Given the description of an element on the screen output the (x, y) to click on. 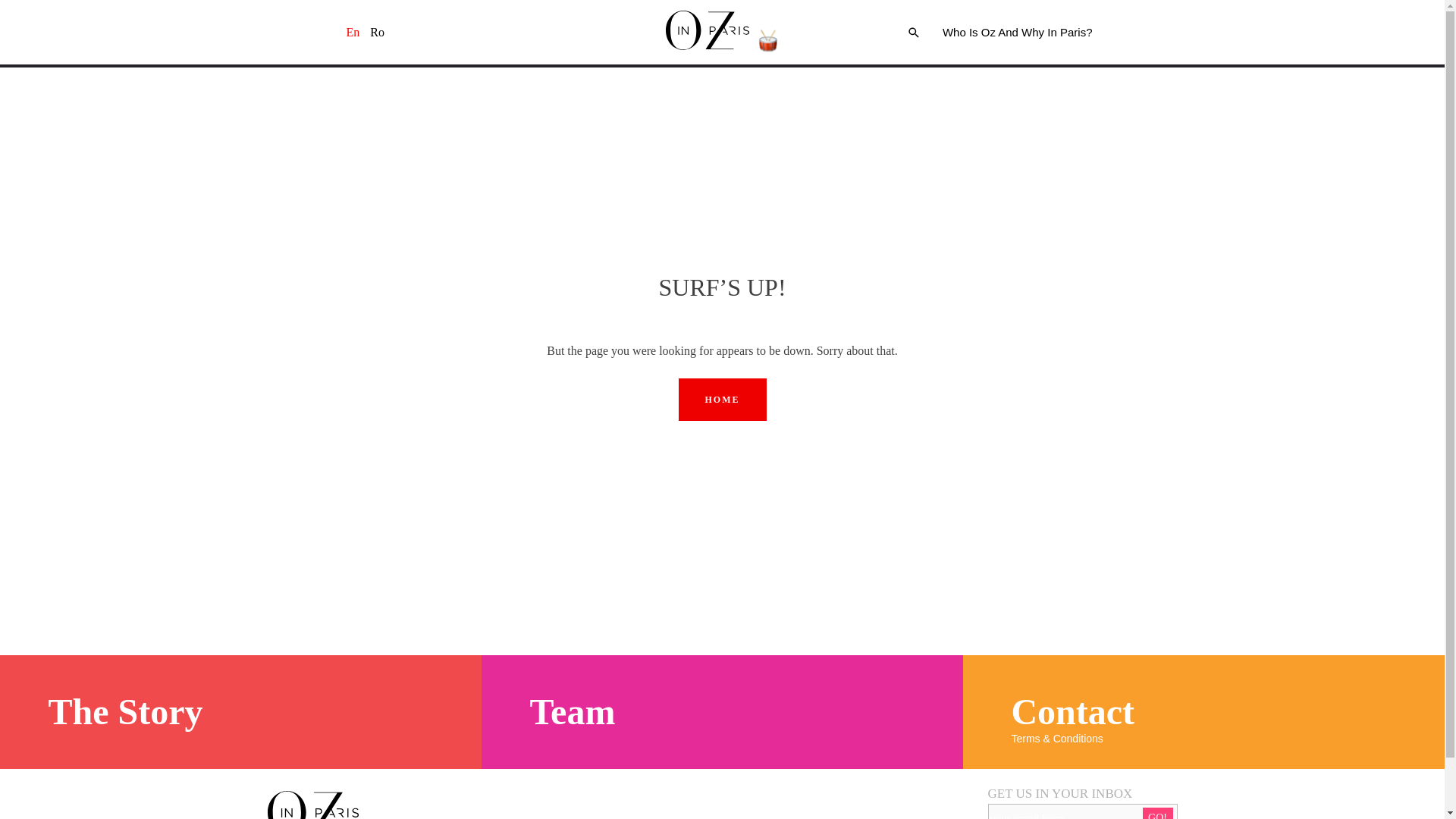
HOME (721, 399)
The Story (125, 711)
Who Is Oz And Why In Paris? (1017, 31)
Contact (1072, 711)
Team (571, 711)
Ro (376, 31)
Search (1193, 333)
GO! (1156, 812)
En (352, 31)
GO! (1156, 812)
